Given the description of an element on the screen output the (x, y) to click on. 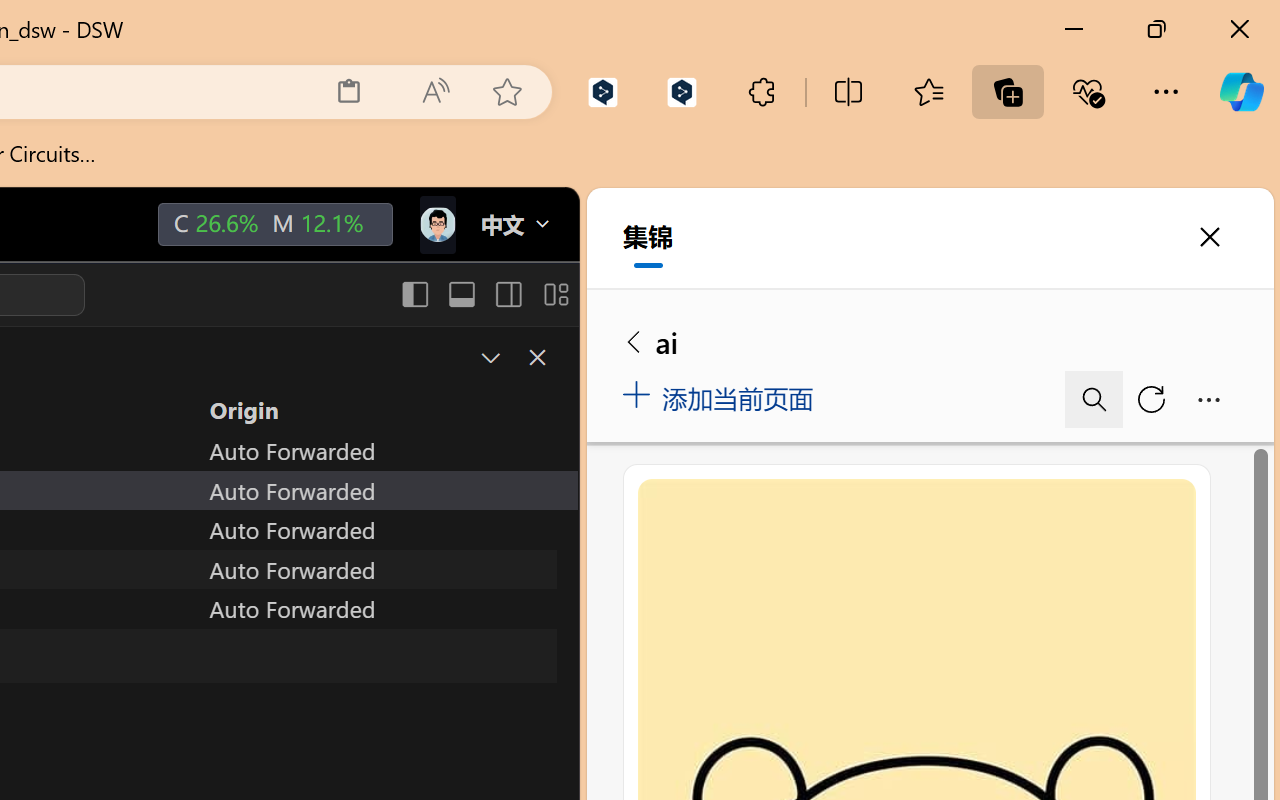
Toggle Secondary Side Bar (Ctrl+Alt+B) (506, 294)
